Given the description of an element on the screen output the (x, y) to click on. 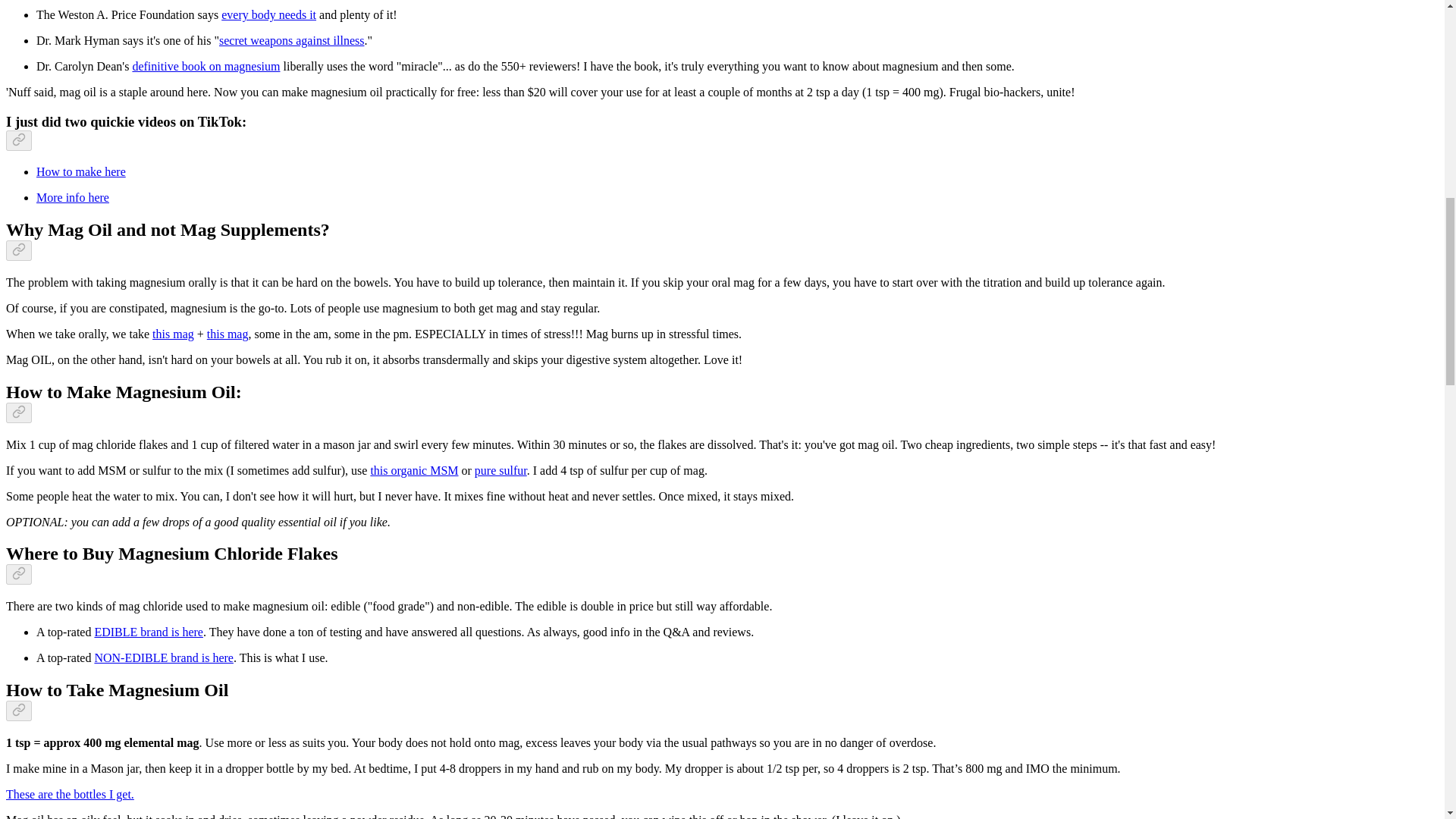
These are the bottles I get. (69, 793)
NON-EDIBLE brand is here (163, 657)
this organic MSM (413, 470)
definitive book on magnesium (205, 65)
More info here (72, 196)
How to make here (80, 171)
every body needs it (268, 14)
this mag (172, 333)
this mag (227, 333)
secret weapons against illness (292, 40)
pure sulfur (500, 470)
EDIBLE brand is here (148, 631)
